Given the description of an element on the screen output the (x, y) to click on. 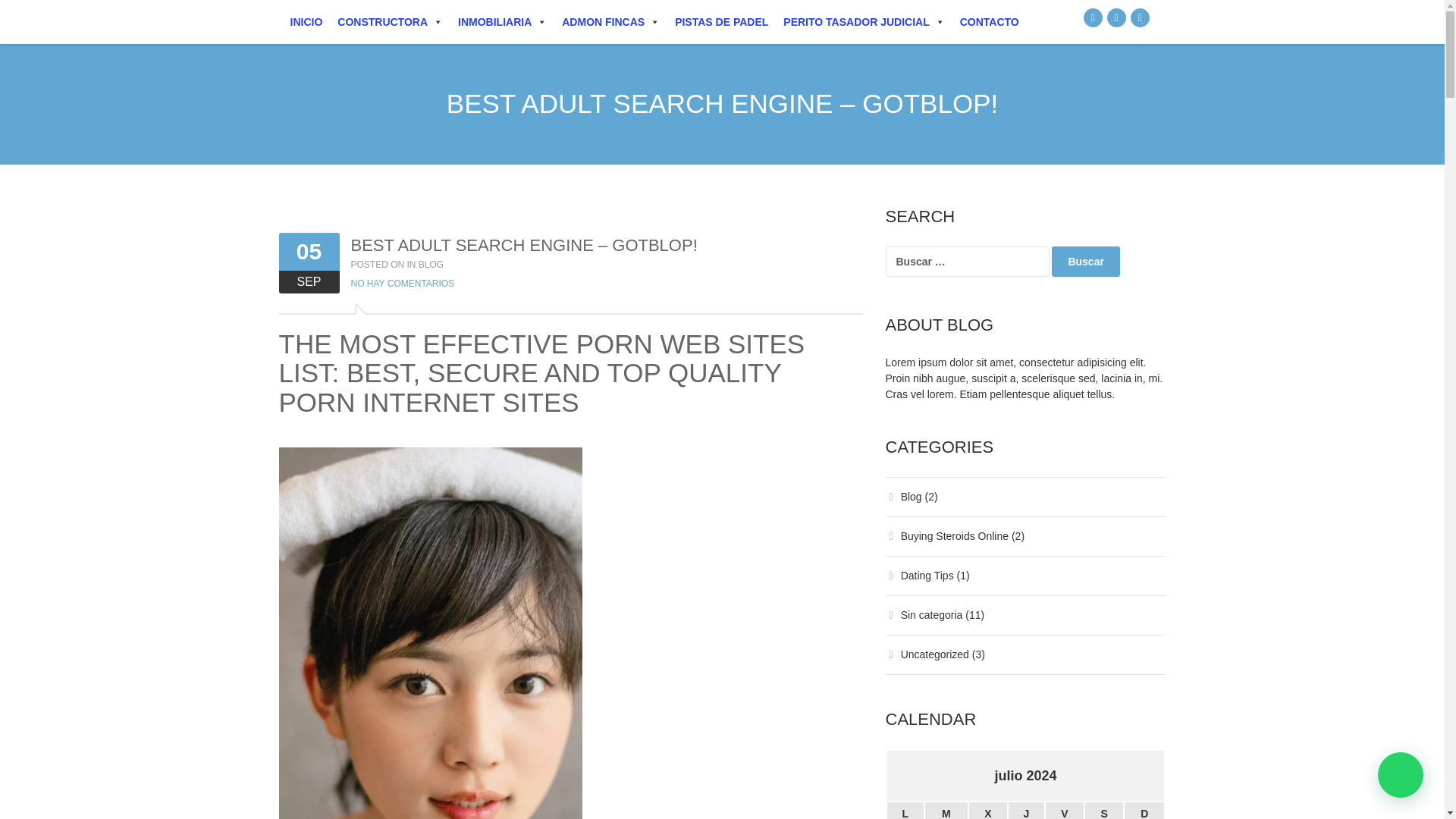
martes (946, 809)
jueves (1026, 809)
Buscar (1085, 260)
domingo (1144, 809)
lunes (904, 809)
Buscar (1085, 260)
viernes (1064, 809)
